Given the description of an element on the screen output the (x, y) to click on. 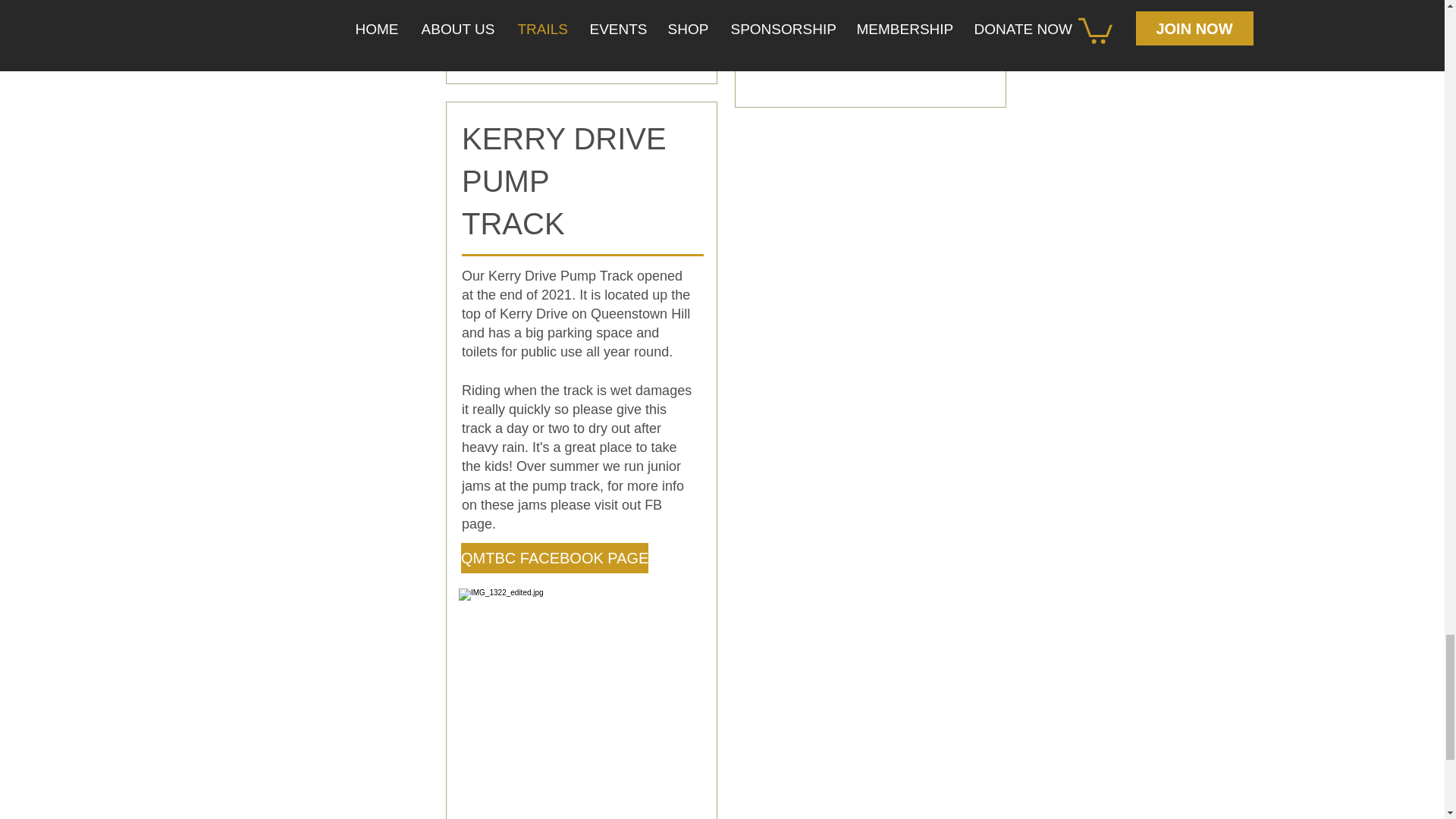
QMTBC FACEBOOK PAGE (554, 557)
